Given the description of an element on the screen output the (x, y) to click on. 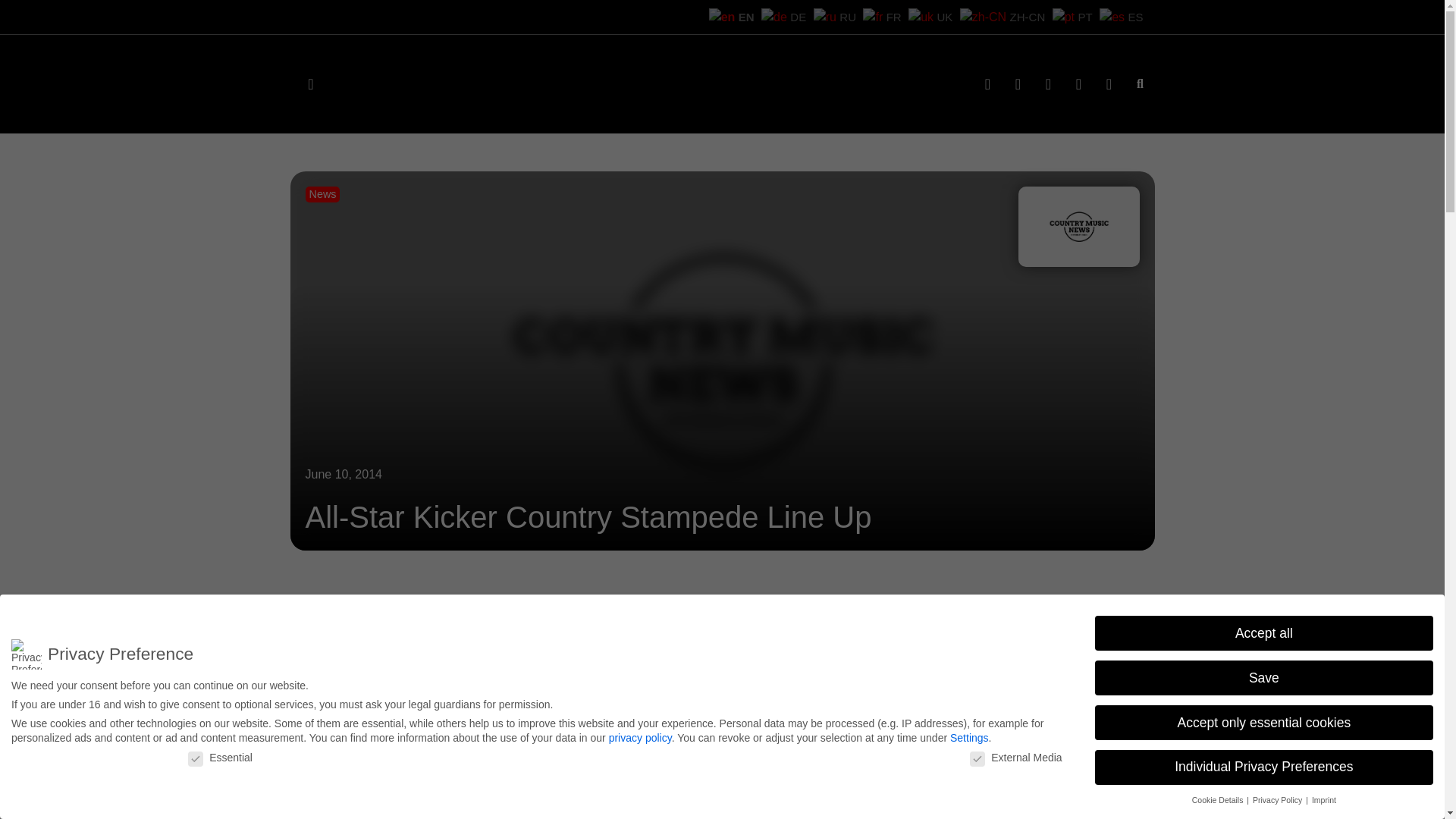
Accept all (1263, 632)
Individual Privacy Preferences (1263, 767)
News (322, 193)
English (796, 15)
privacy policy (639, 733)
Cookie Details (1219, 799)
French (930, 15)
ES (1126, 15)
FR (930, 15)
Portuguese (1082, 15)
